Given the description of an element on the screen output the (x, y) to click on. 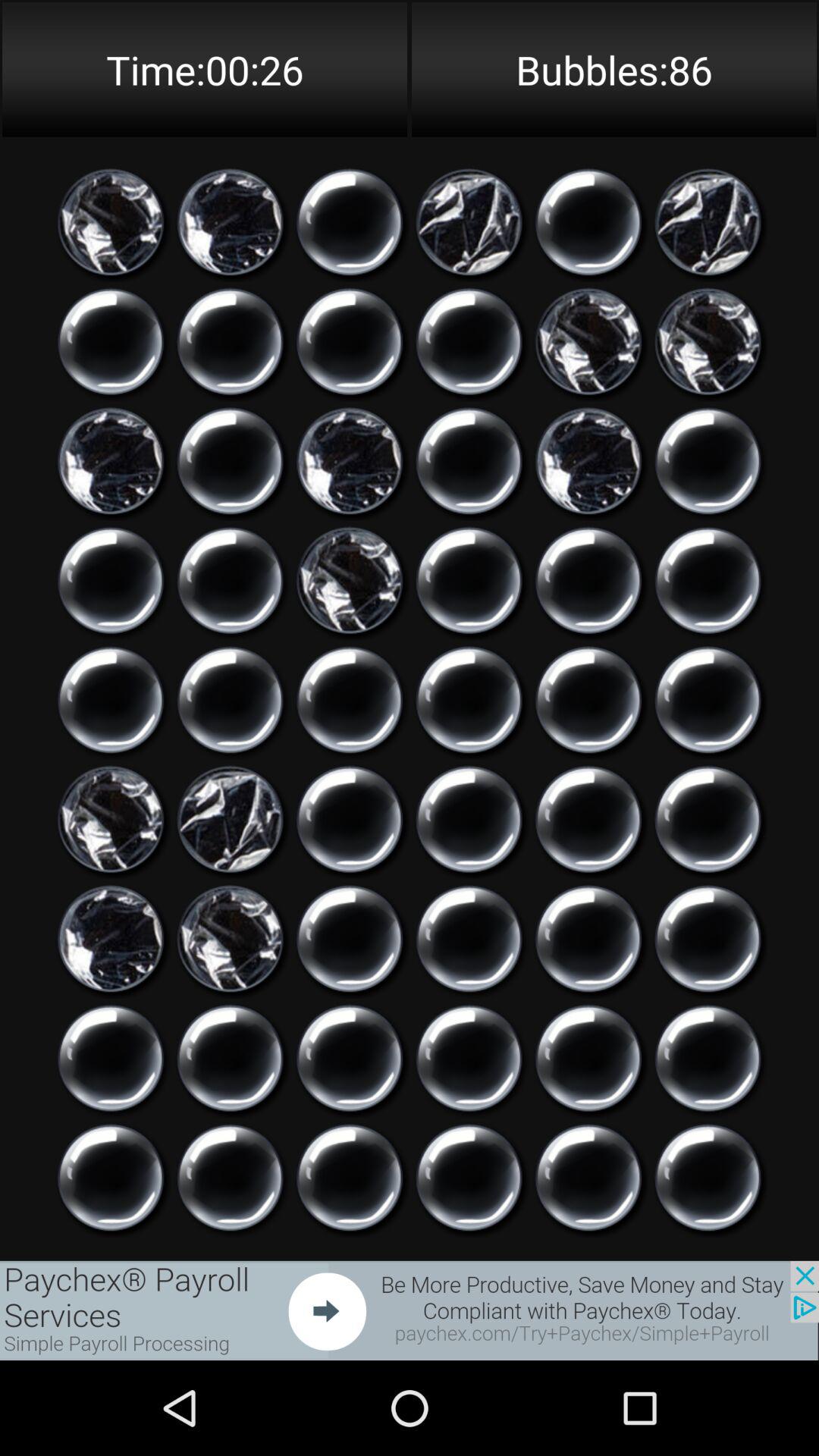
break bubble (230, 699)
